Given the description of an element on the screen output the (x, y) to click on. 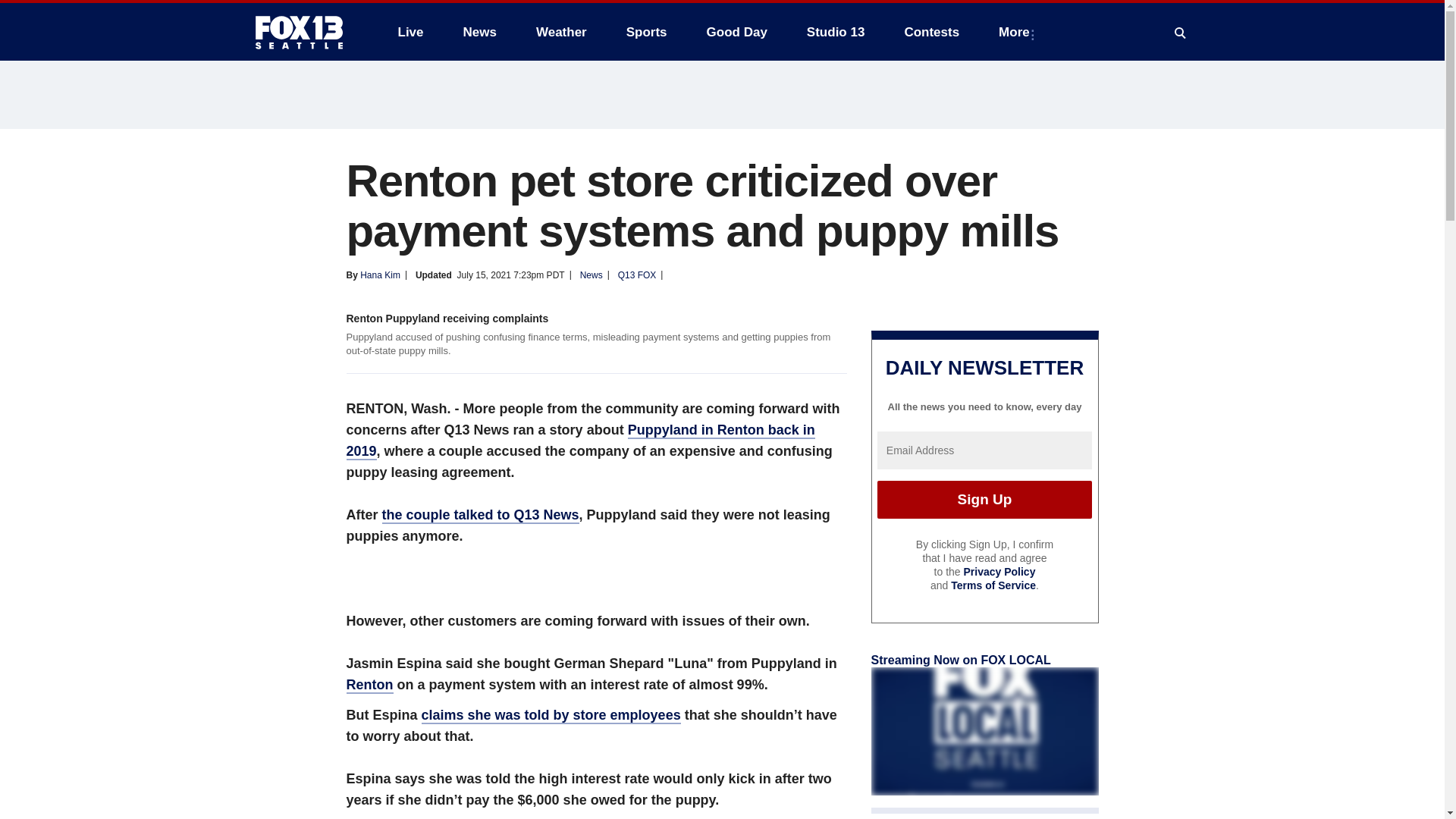
Sign Up (984, 499)
Studio 13 (835, 32)
News (479, 32)
Contests (931, 32)
More (1017, 32)
Weather (561, 32)
Live (410, 32)
Good Day (736, 32)
Sports (646, 32)
